Given the description of an element on the screen output the (x, y) to click on. 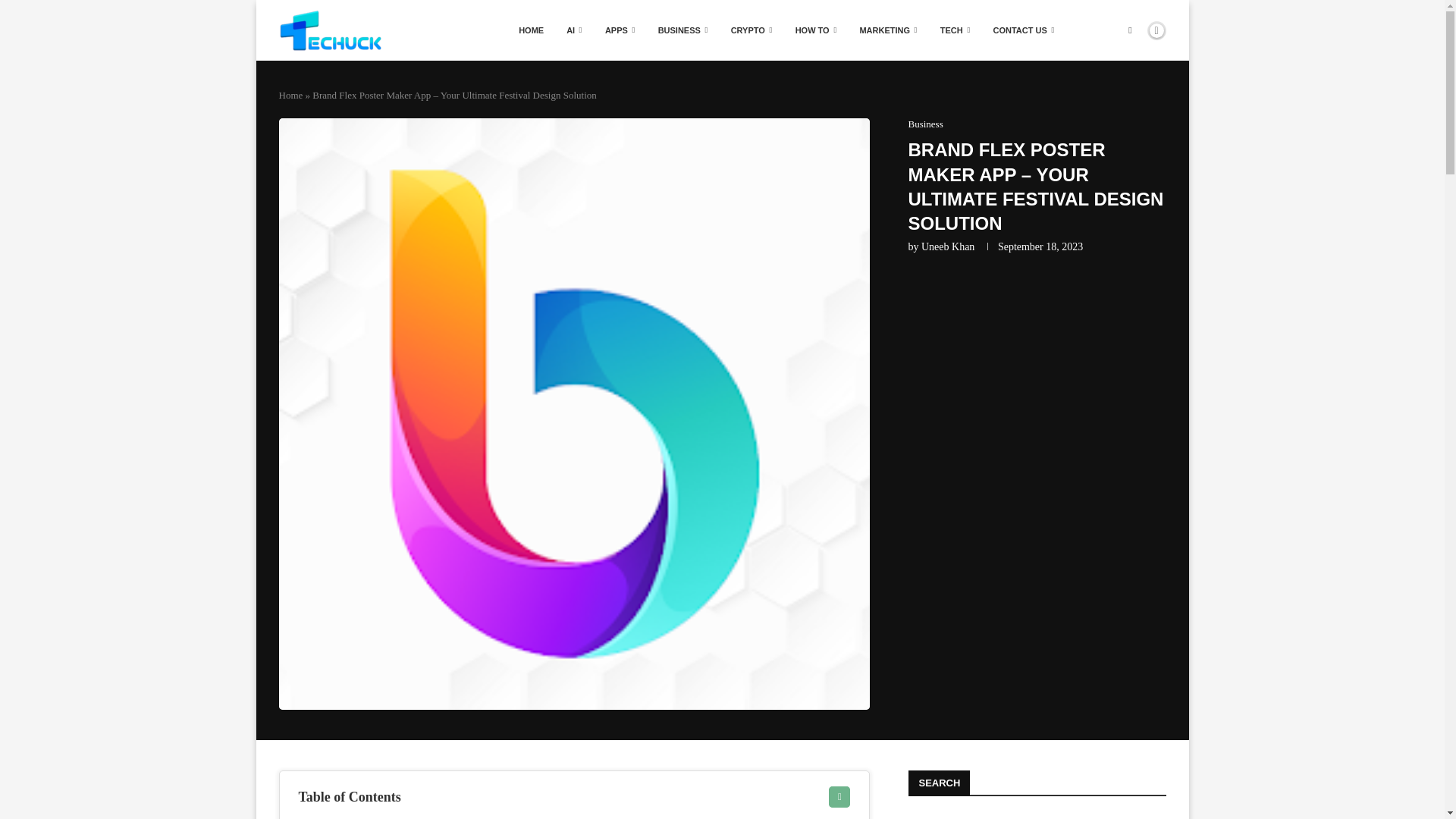
CRYPTO (751, 30)
CONTACT US (1023, 30)
HOW TO (816, 30)
Uneeb Khan (947, 246)
MARKETING (887, 30)
Home (290, 94)
BUSINESS (682, 30)
Business (925, 123)
